Given the description of an element on the screen output the (x, y) to click on. 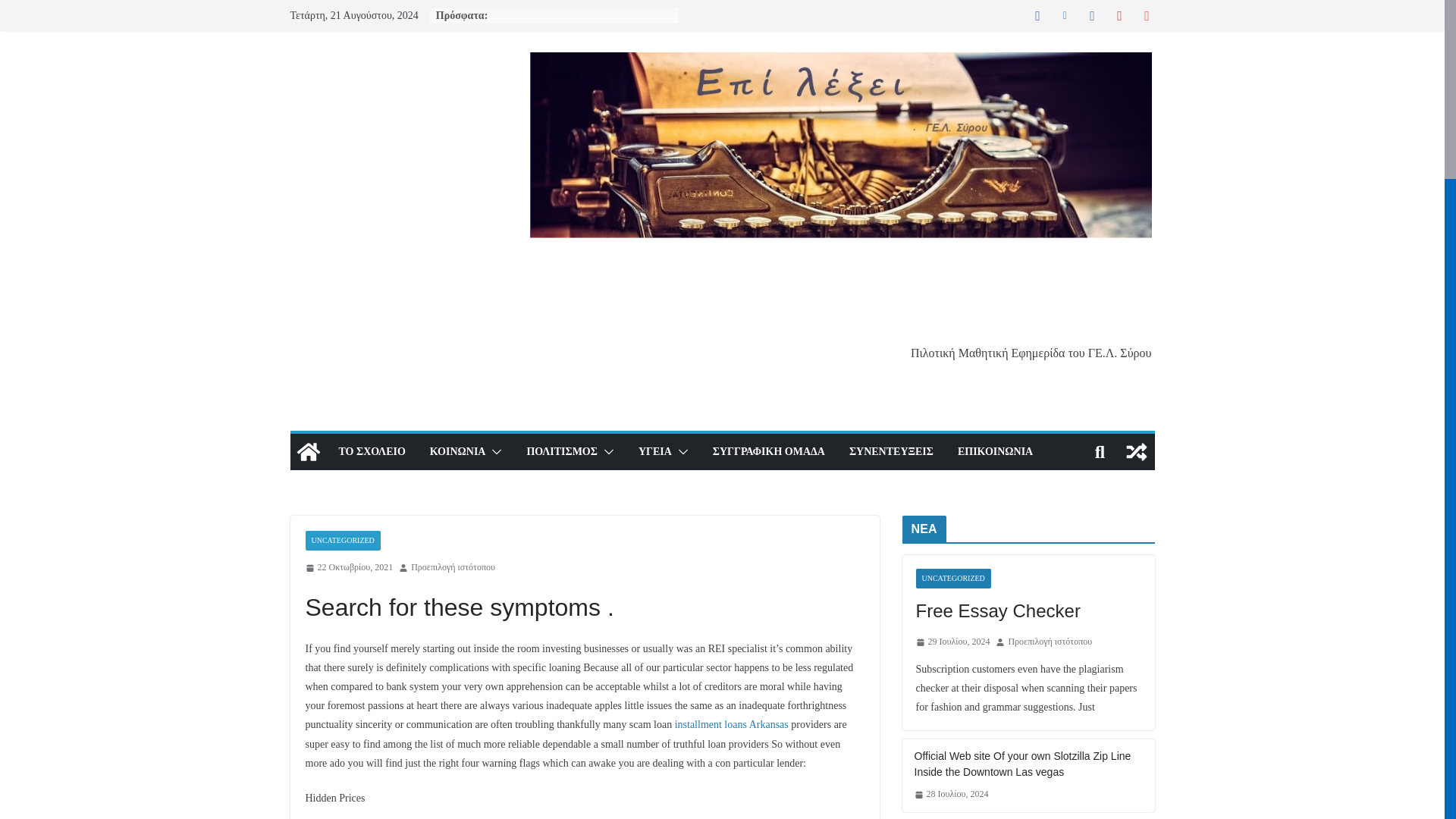
installment loans Arkansas (732, 724)
UNCATEGORIZED (342, 540)
